Given the description of an element on the screen output the (x, y) to click on. 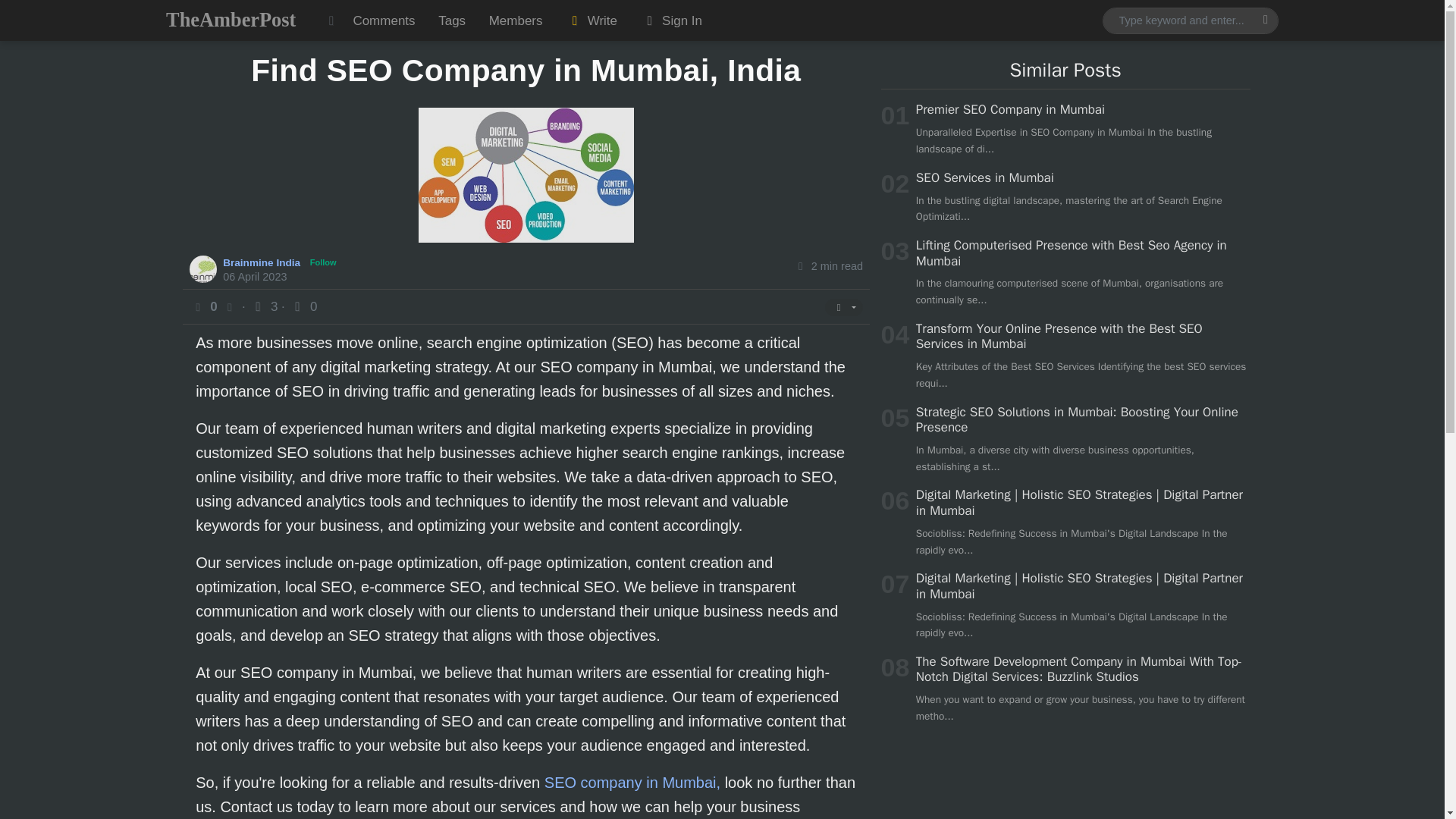
Tags (451, 20)
Lifting Computerised Presence with Best Seo Agency in Mumbai (1071, 252)
Views (264, 306)
TheAmberPost (230, 20)
Members (515, 20)
Brainmine India (263, 261)
Follow (323, 262)
